Given the description of an element on the screen output the (x, y) to click on. 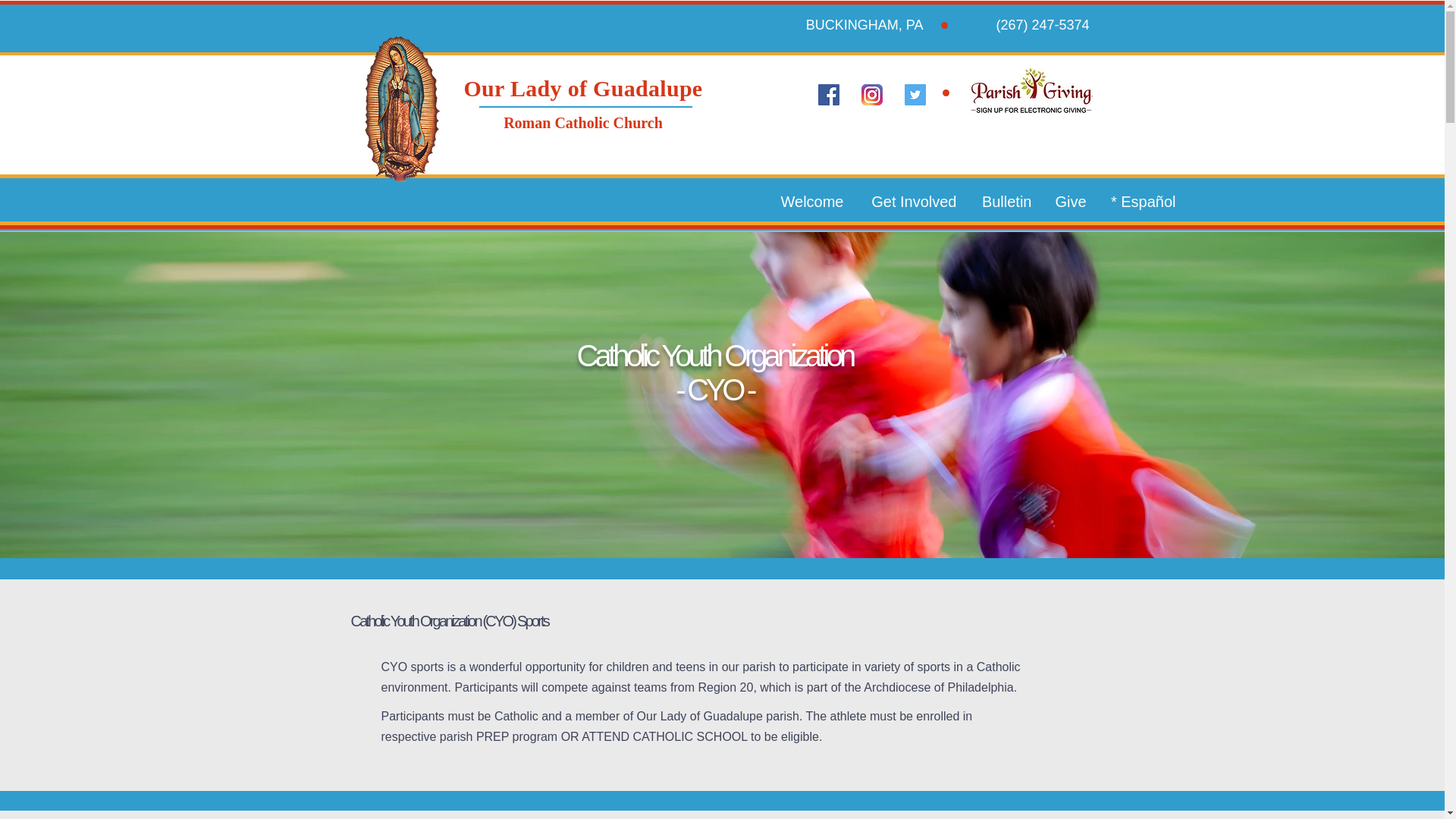
Bulletin (1005, 201)
Get Involved (912, 201)
Roman Catholic Church (582, 122)
Welcome (811, 201)
Give (1070, 201)
Our Lady of Guadalupe (582, 88)
